Given the description of an element on the screen output the (x, y) to click on. 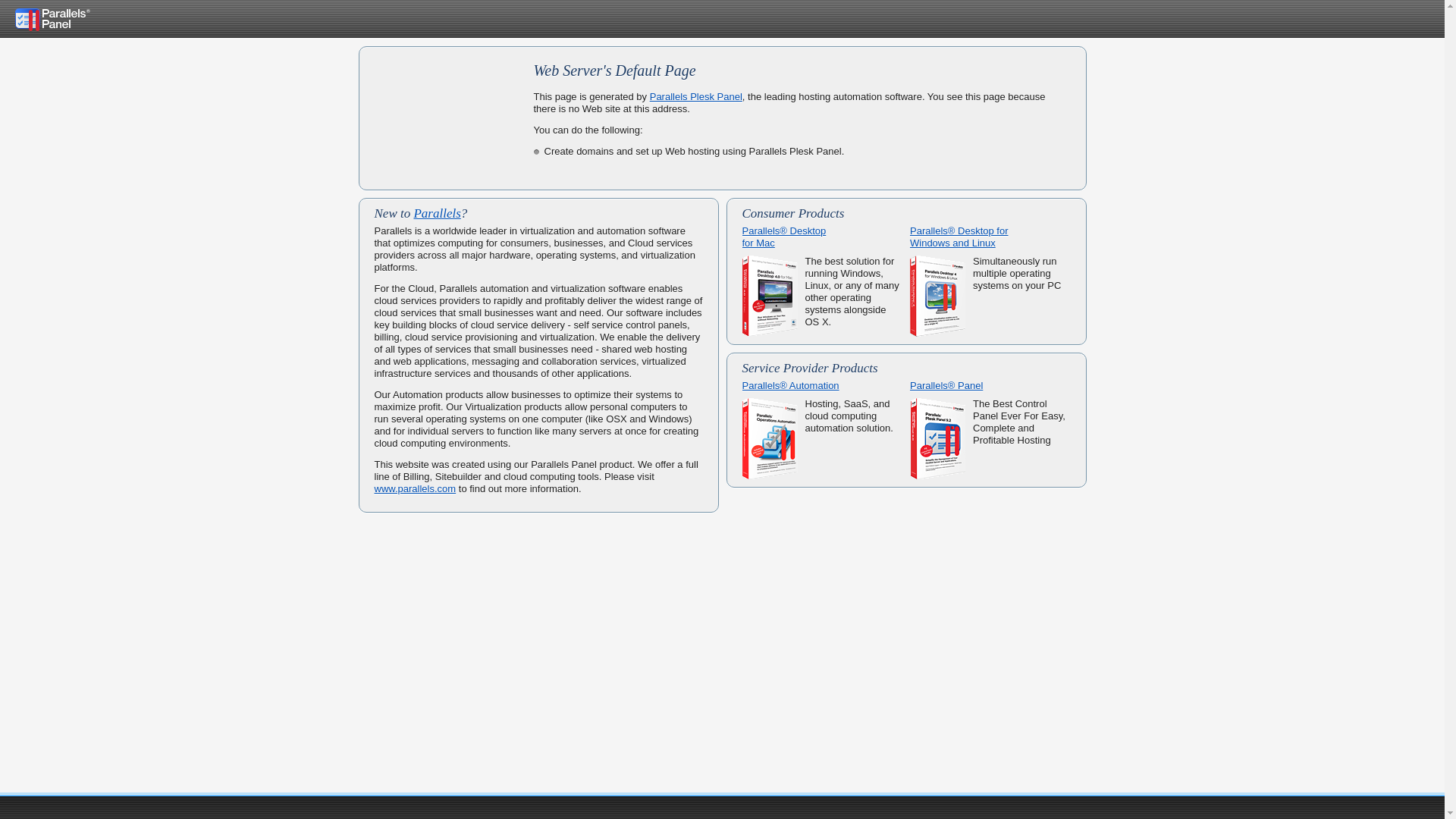
Parallels Element type: text (436, 213)
Parallels Plesk Panel Element type: text (695, 96)
www.parallels.com Element type: text (415, 488)
